Given the description of an element on the screen output the (x, y) to click on. 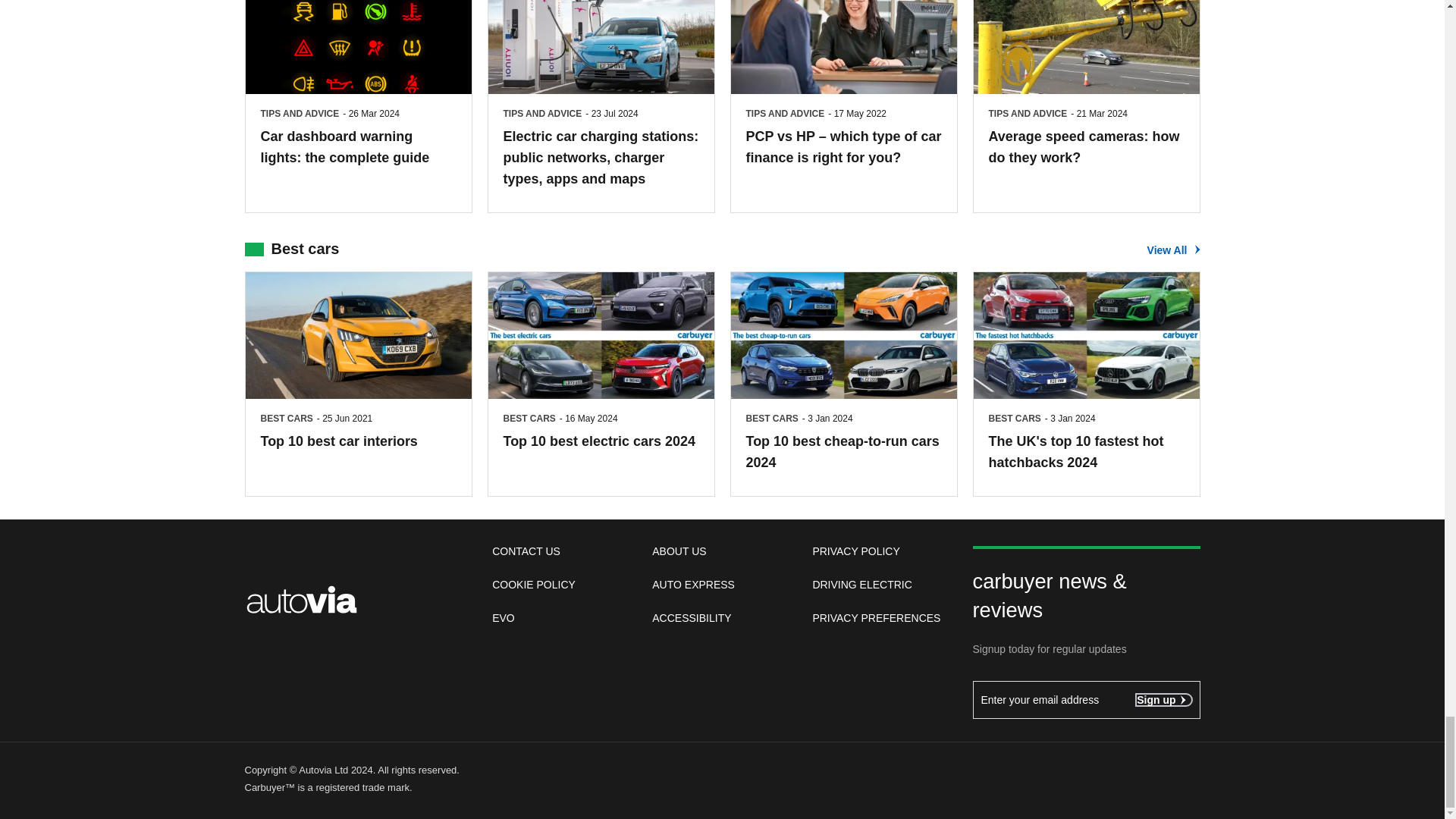
Subscribe (1163, 699)
Subscribe (1085, 699)
